Given the description of an element on the screen output the (x, y) to click on. 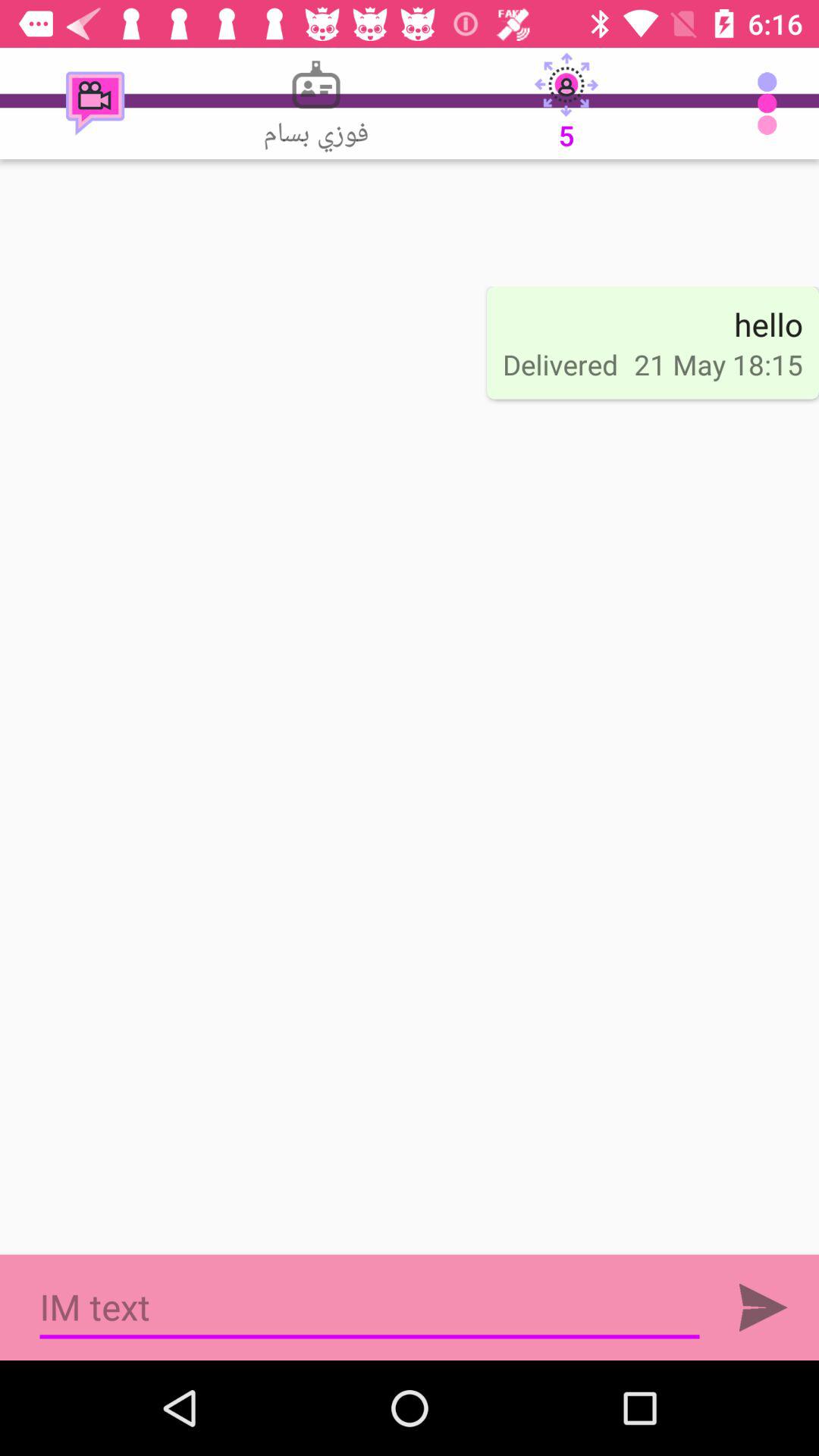
turn off the item below the 21 may 18 item (763, 1307)
